Given the description of an element on the screen output the (x, y) to click on. 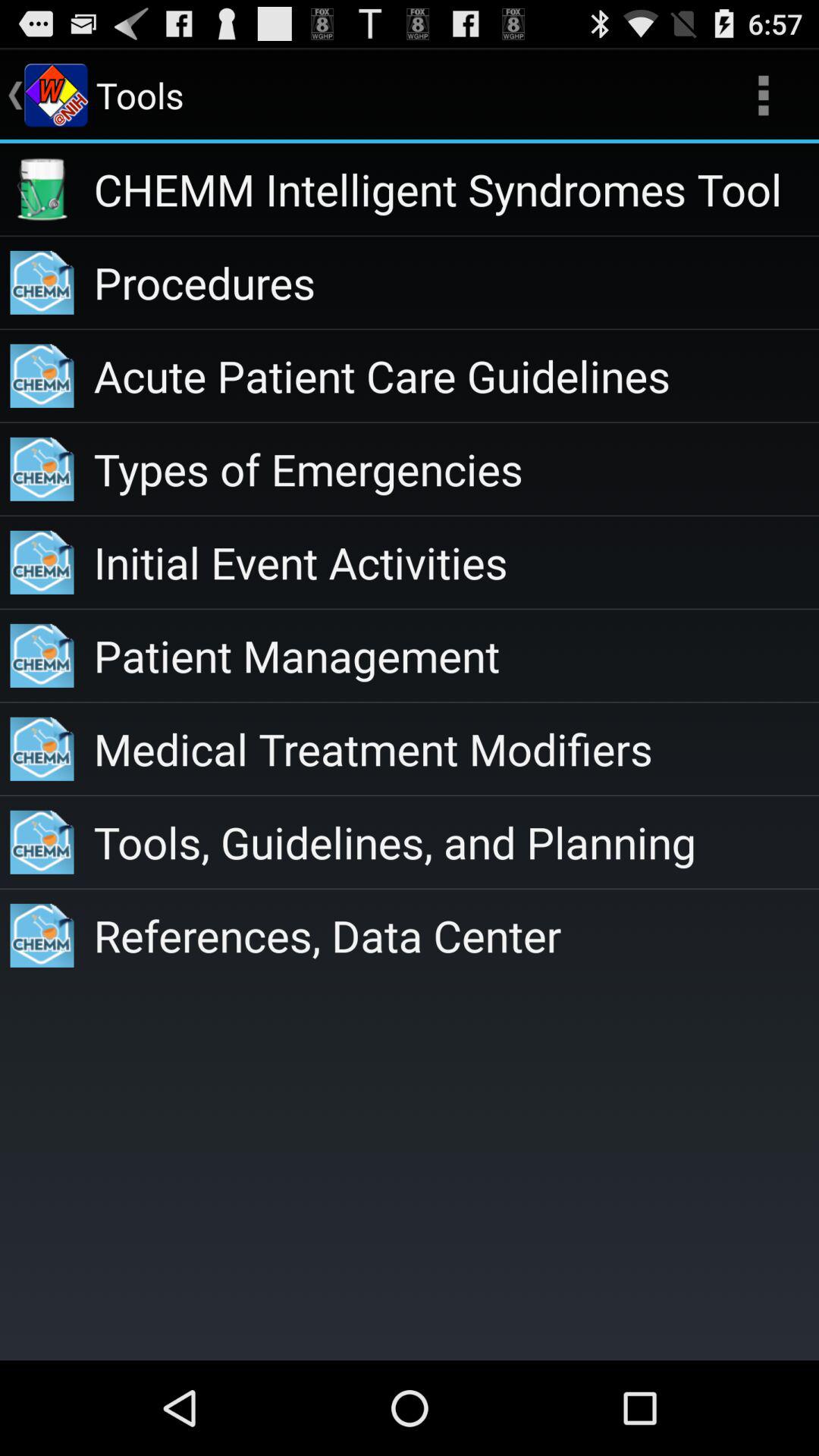
open the types of emergencies item (456, 469)
